Given the description of an element on the screen output the (x, y) to click on. 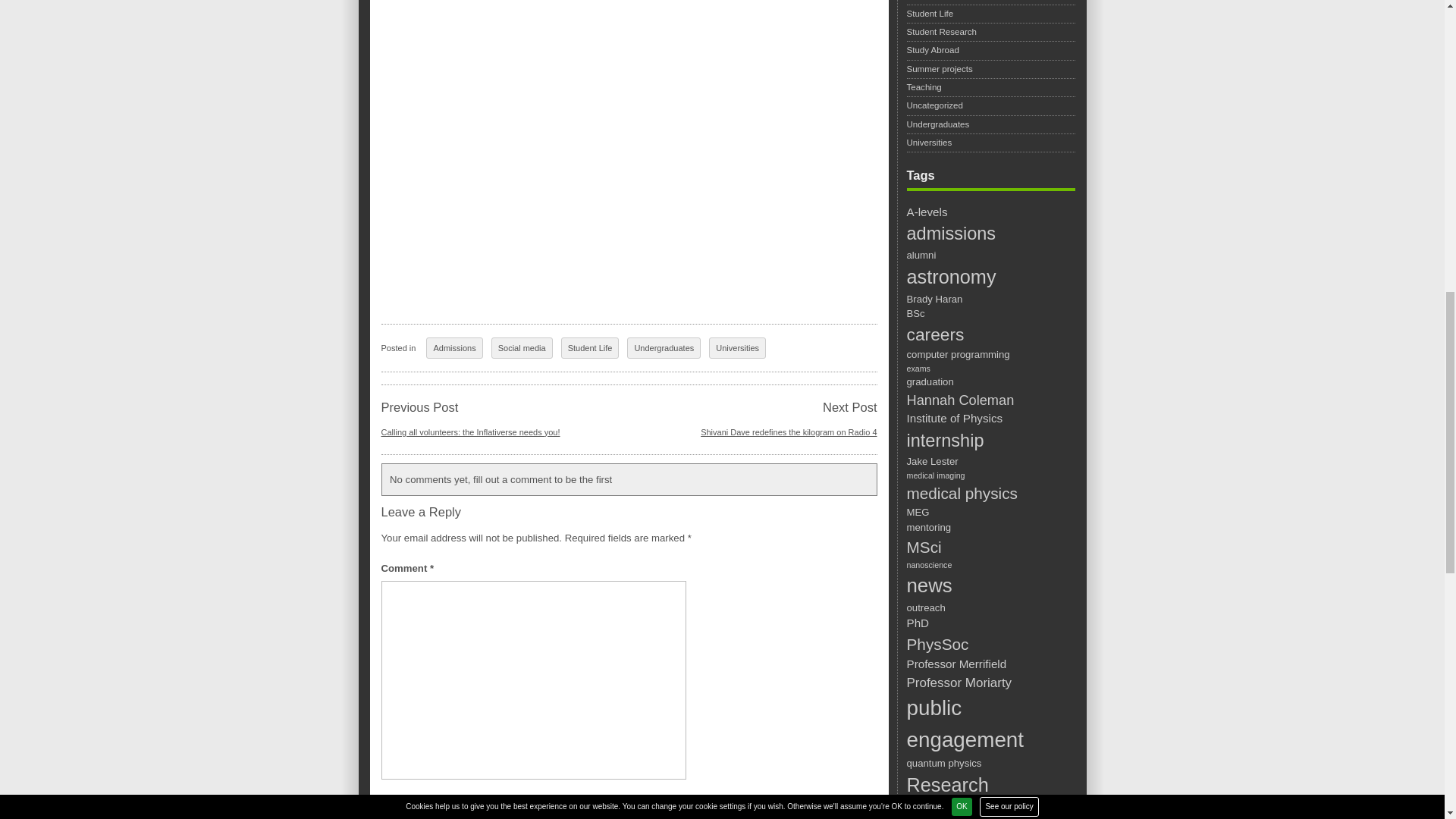
Student Life (590, 348)
Undergraduates (663, 348)
Universities (737, 348)
Social media (522, 348)
Admissions (453, 348)
